Given the description of an element on the screen output the (x, y) to click on. 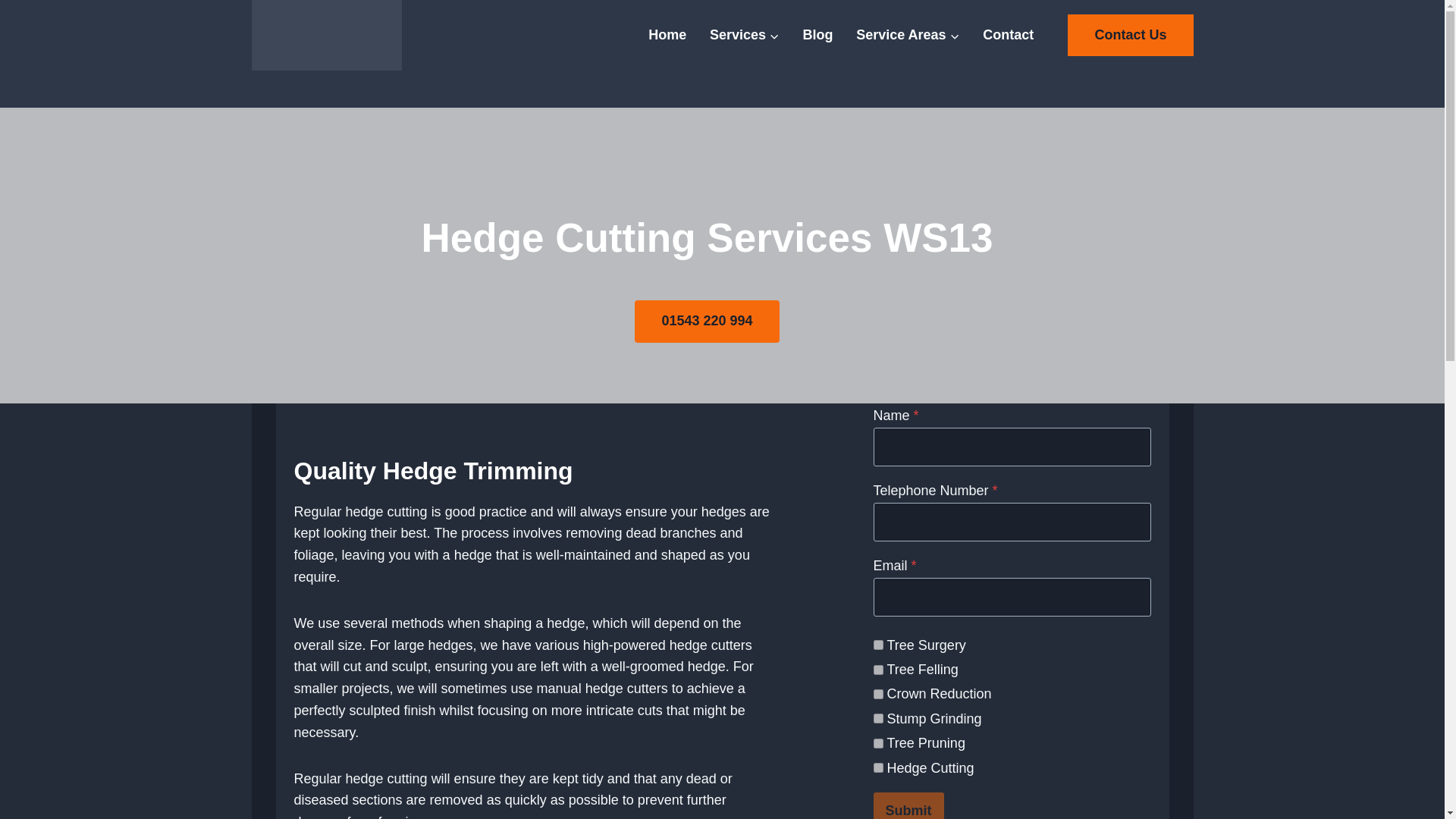
Contact (1008, 34)
Hedge Cutting (878, 767)
01543 220 994 (706, 321)
Contact Us (1129, 35)
Blog (817, 34)
Service Areas (907, 34)
Services (745, 34)
Submit (908, 805)
Stump Grinding (878, 718)
Tree  Surgery (878, 644)
Tree Felling (878, 669)
Home (667, 34)
Tree  Pruning (878, 743)
Crown Reduction (878, 694)
